Given the description of an element on the screen output the (x, y) to click on. 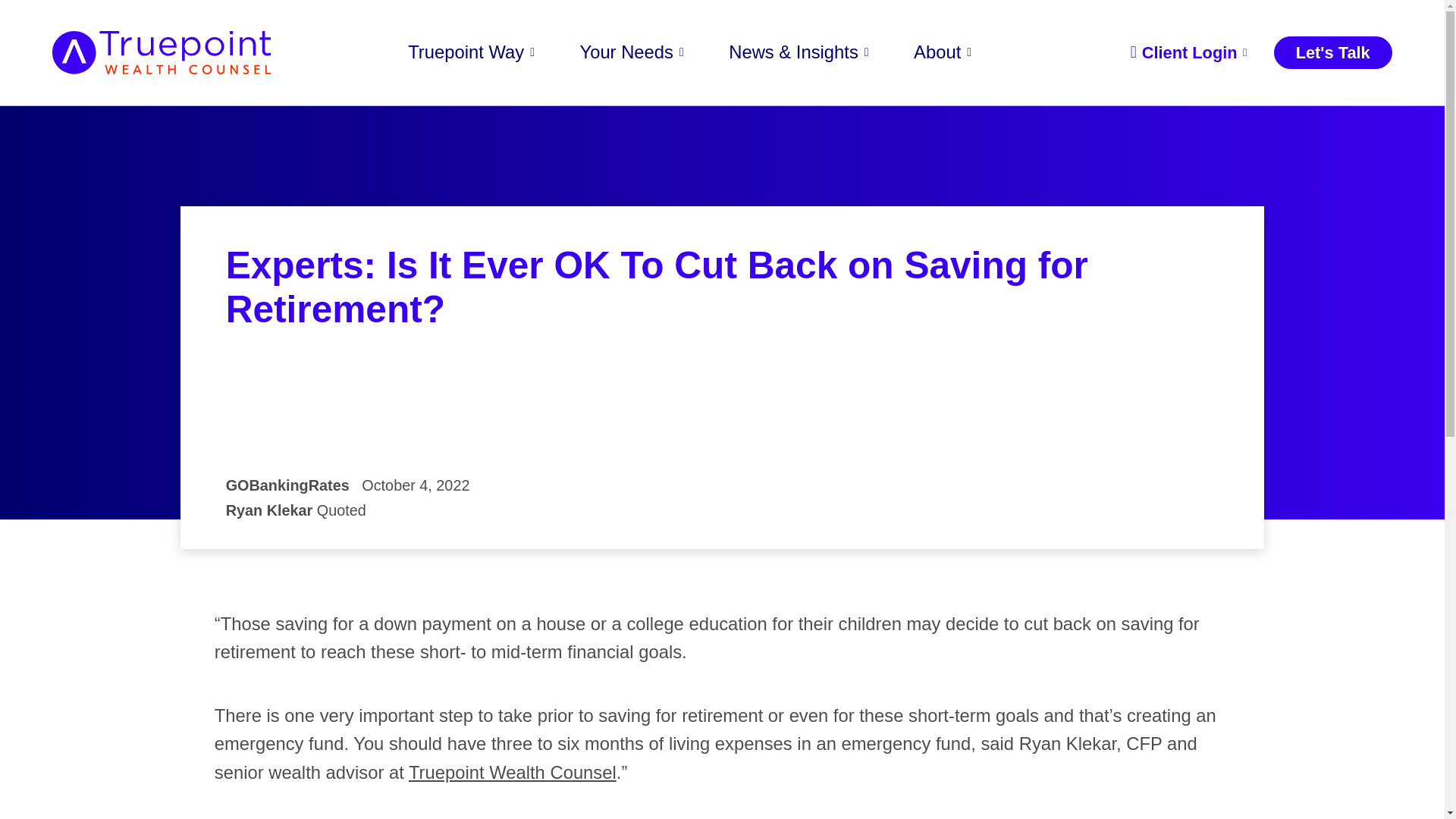
About (941, 52)
Client Login (1188, 52)
Let's Talk (1332, 52)
Truepoint Wealth Counsel (512, 772)
Truepoint Way (470, 52)
Your Needs (631, 52)
